Given the description of an element on the screen output the (x, y) to click on. 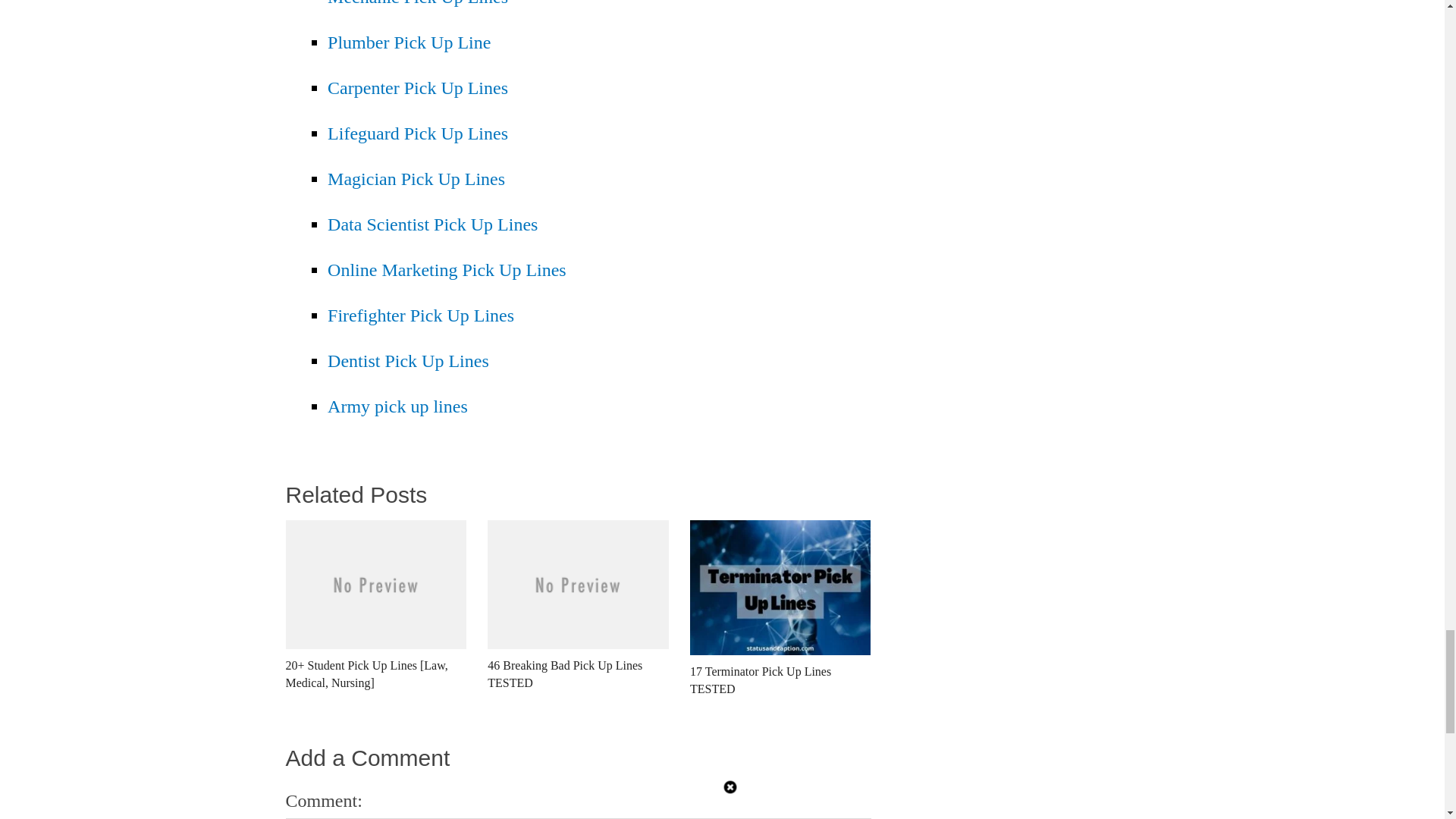
Data Scientist Pick Up Lines (432, 224)
Lifeguard Pick Up Lines (417, 133)
46 Breaking Bad Pick Up Lines TESTED (577, 615)
17 Terminator Pick Up Lines TESTED (780, 618)
Plumber Pick Up Line (408, 42)
Mechanic Pick Up Lines (417, 3)
Firefighter Pick Up Lines (420, 315)
Online Marketing Pick Up Lines (446, 270)
Carpenter Pick Up Lines (417, 87)
Magician Pick Up Lines (416, 178)
